Given the description of an element on the screen output the (x, y) to click on. 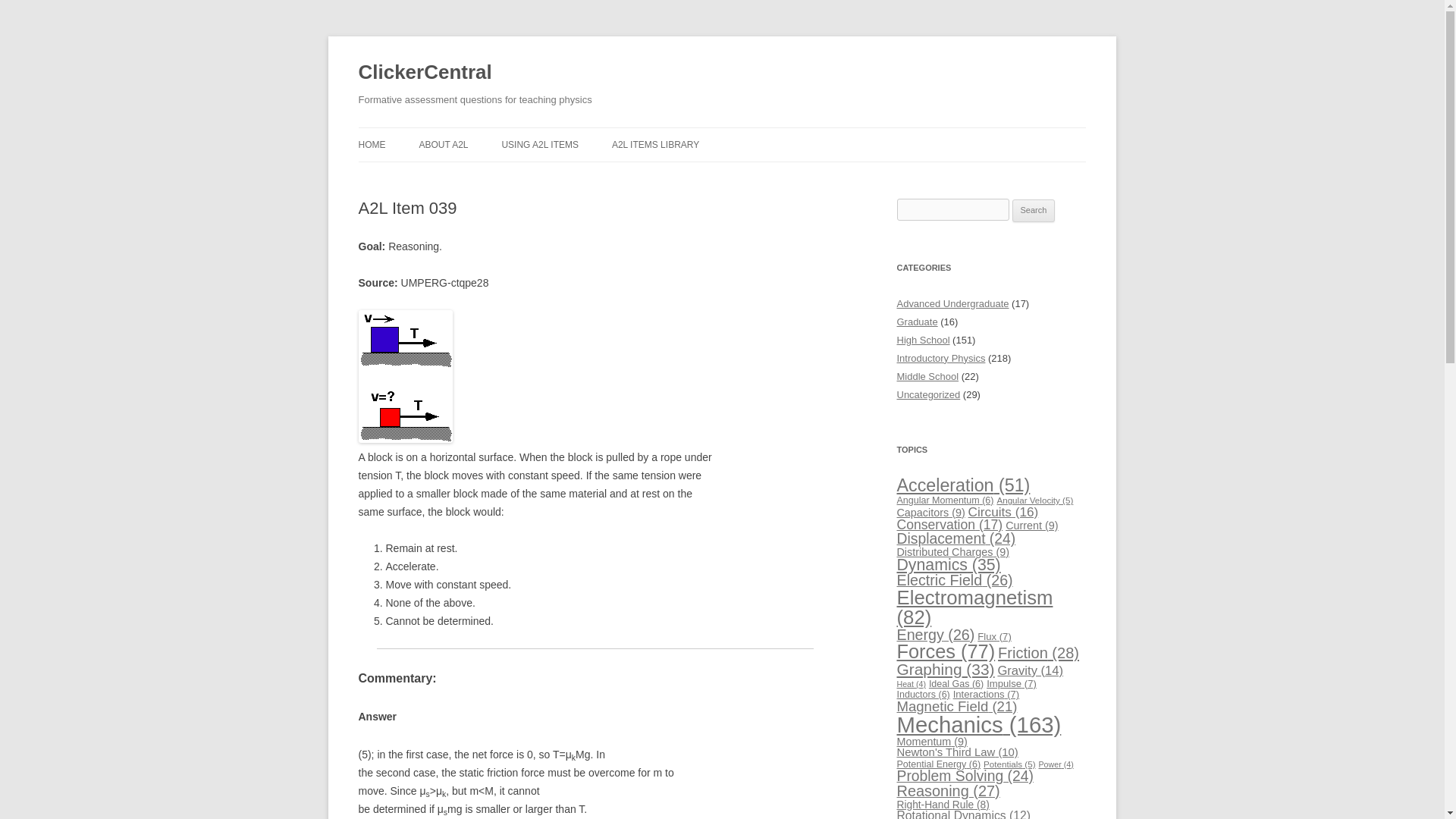
Introductory Physics (940, 357)
Graduate (916, 321)
ClickerCentral (425, 72)
Search (1033, 210)
A2L ITEMS LIBRARY (654, 144)
ABOUT A2L (443, 144)
Uncategorized (927, 394)
Search (1033, 210)
